Given the description of an element on the screen output the (x, y) to click on. 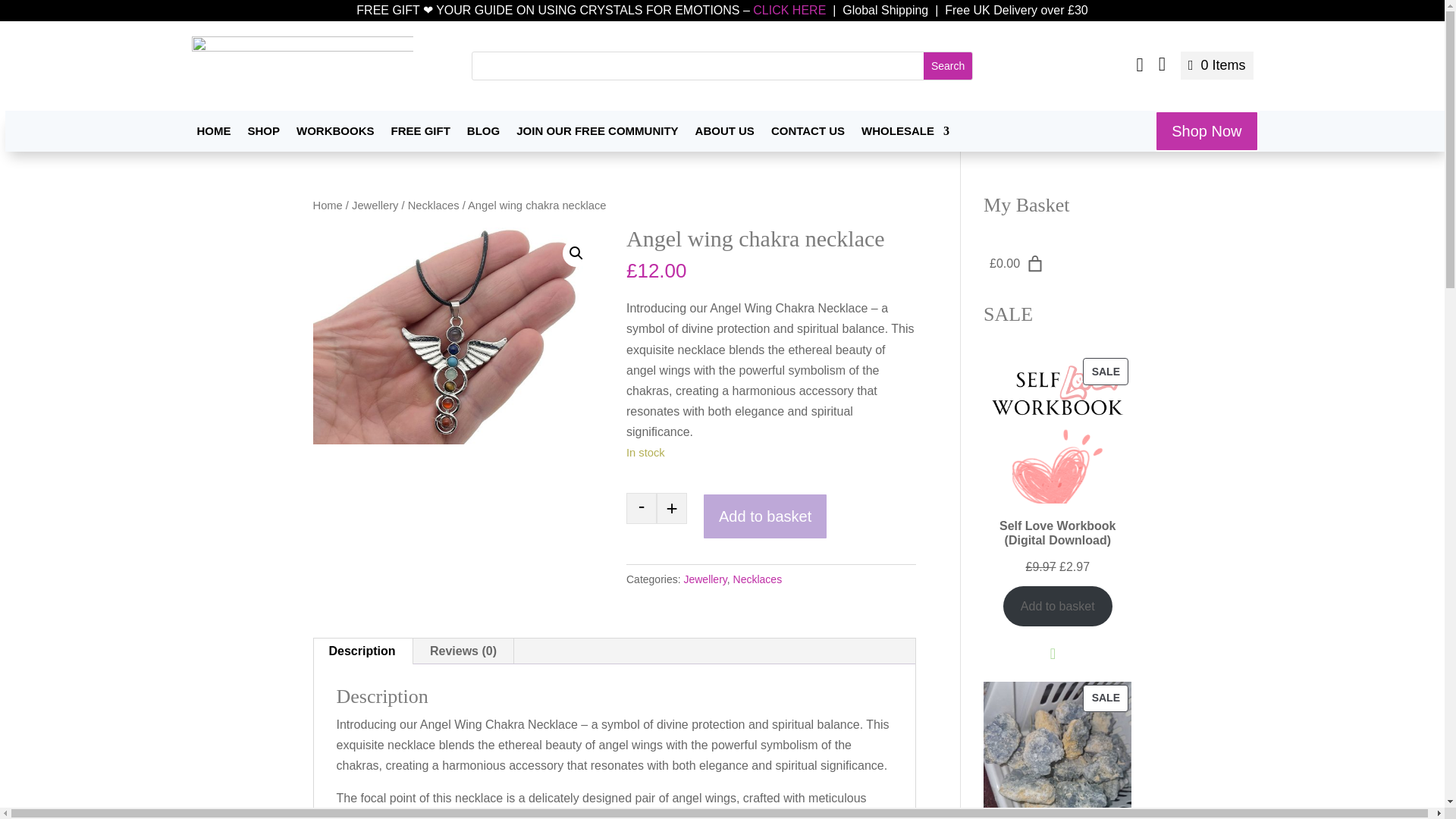
Necklaces (433, 205)
Jewellery (374, 205)
CLICK HERE (788, 10)
SHOP (263, 138)
- (641, 508)
Search (947, 65)
FREE GIFT (420, 138)
BLOG (483, 138)
Search (947, 65)
Necklaces (758, 579)
JOIN OUR FREE COMMUNITY (597, 138)
ABOUT US (724, 138)
Search (947, 65)
WHOLESALE (905, 138)
Add to basket (764, 516)
